Given the description of an element on the screen output the (x, y) to click on. 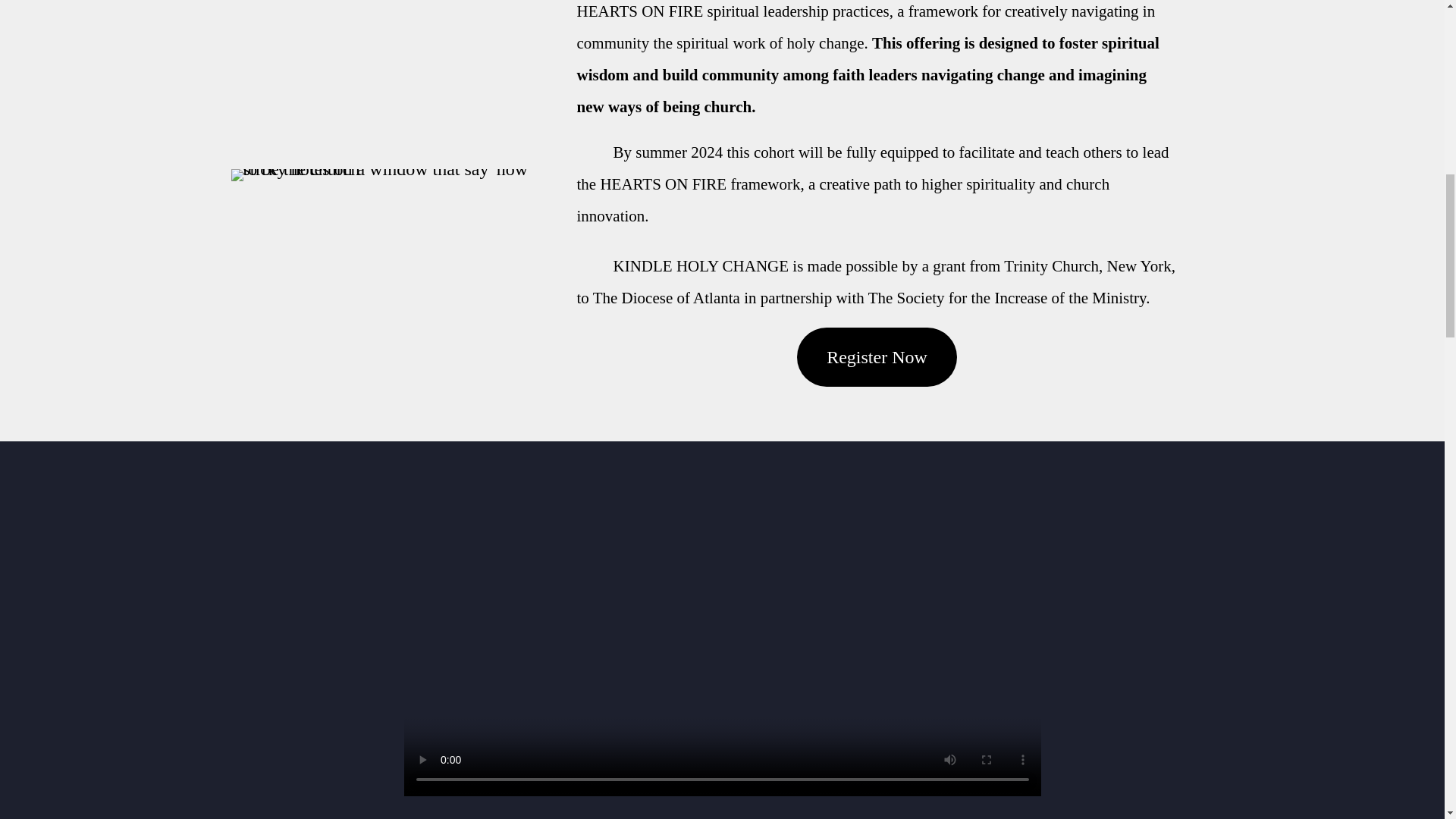
Register Now (876, 356)
